Given the description of an element on the screen output the (x, y) to click on. 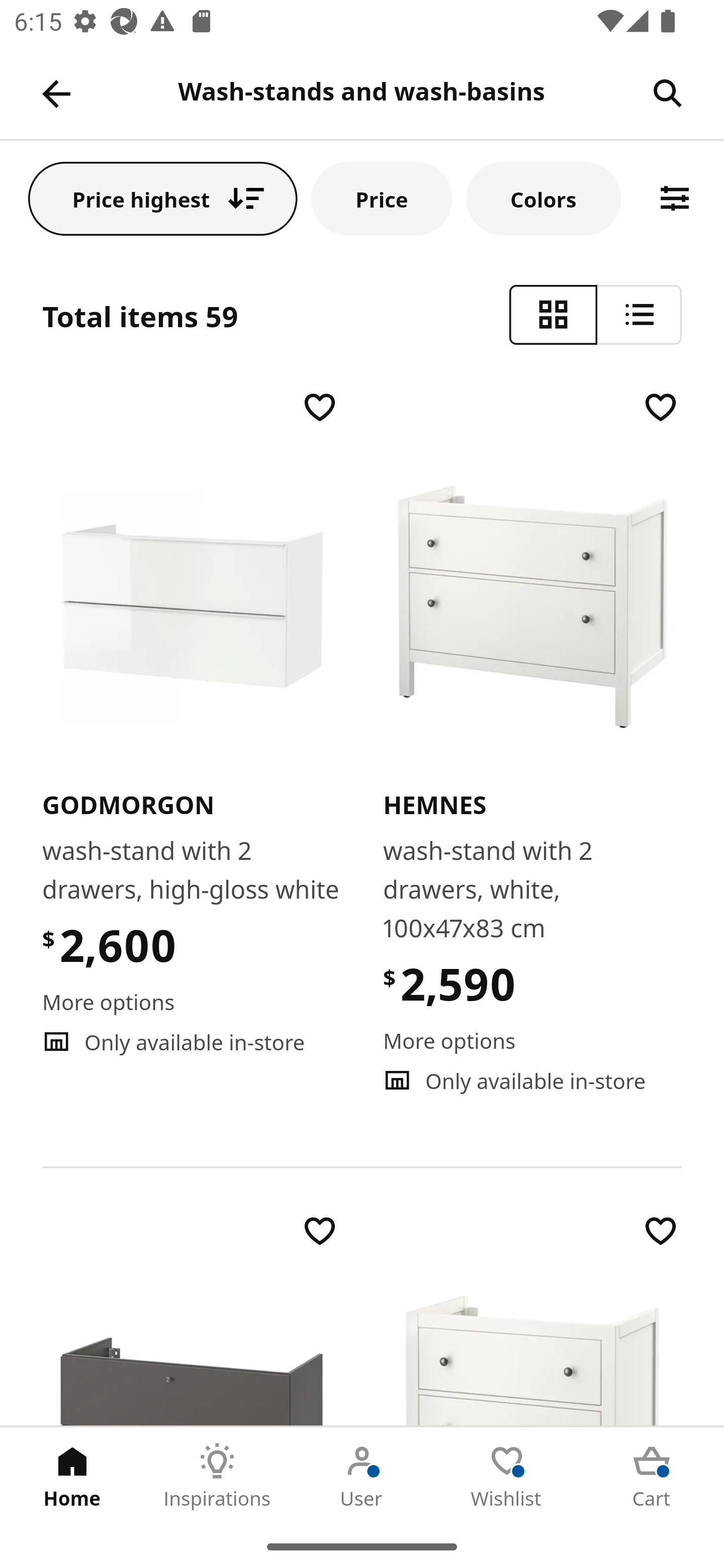
Price highest (162, 198)
Price (382, 198)
Colors (543, 198)
Home
Tab 1 of 5 (72, 1476)
Inspirations
Tab 2 of 5 (216, 1476)
User
Tab 3 of 5 (361, 1476)
Wishlist
Tab 4 of 5 (506, 1476)
Cart
Tab 5 of 5 (651, 1476)
